Given the description of an element on the screen output the (x, y) to click on. 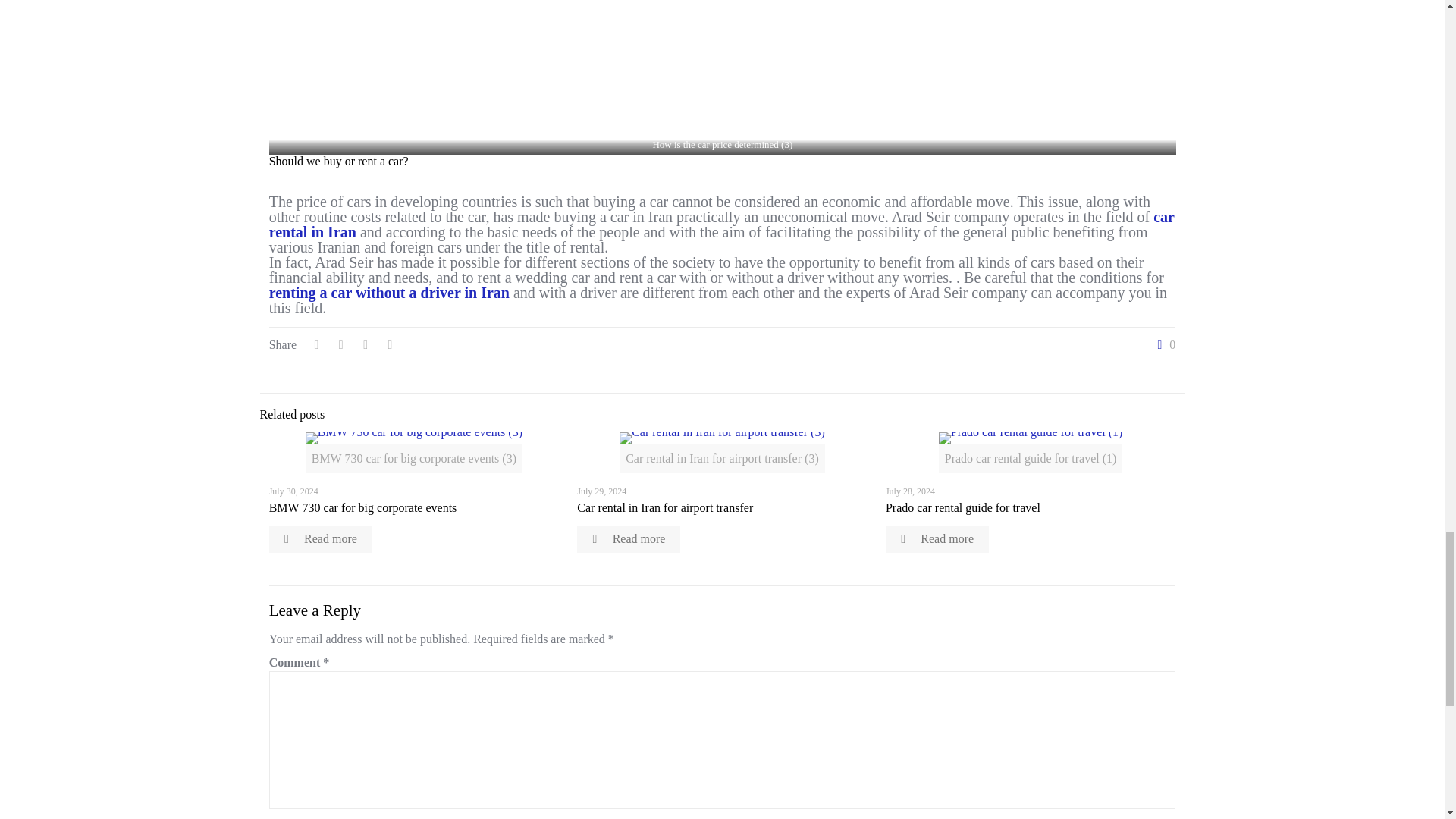
BMW 730 car for big corporate events (363, 507)
0 (1162, 345)
Read more (627, 538)
renting a car without a driver in Iran (389, 292)
Car rental in Iran for airport transfer (664, 507)
car rental in Iran (721, 224)
Read more (320, 538)
